Given the description of an element on the screen output the (x, y) to click on. 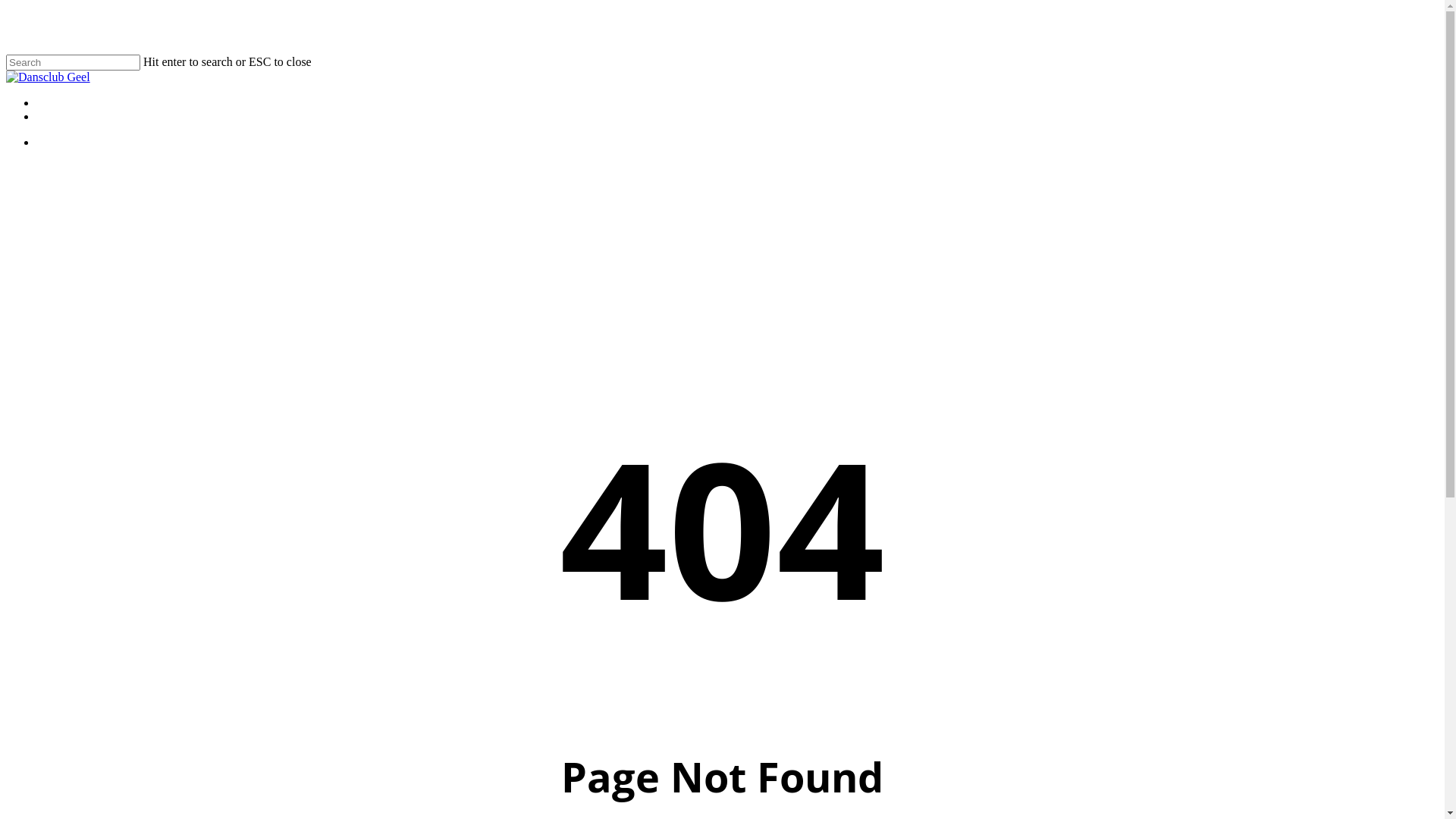
Skip to main content Element type: text (5, 5)
